Given the description of an element on the screen output the (x, y) to click on. 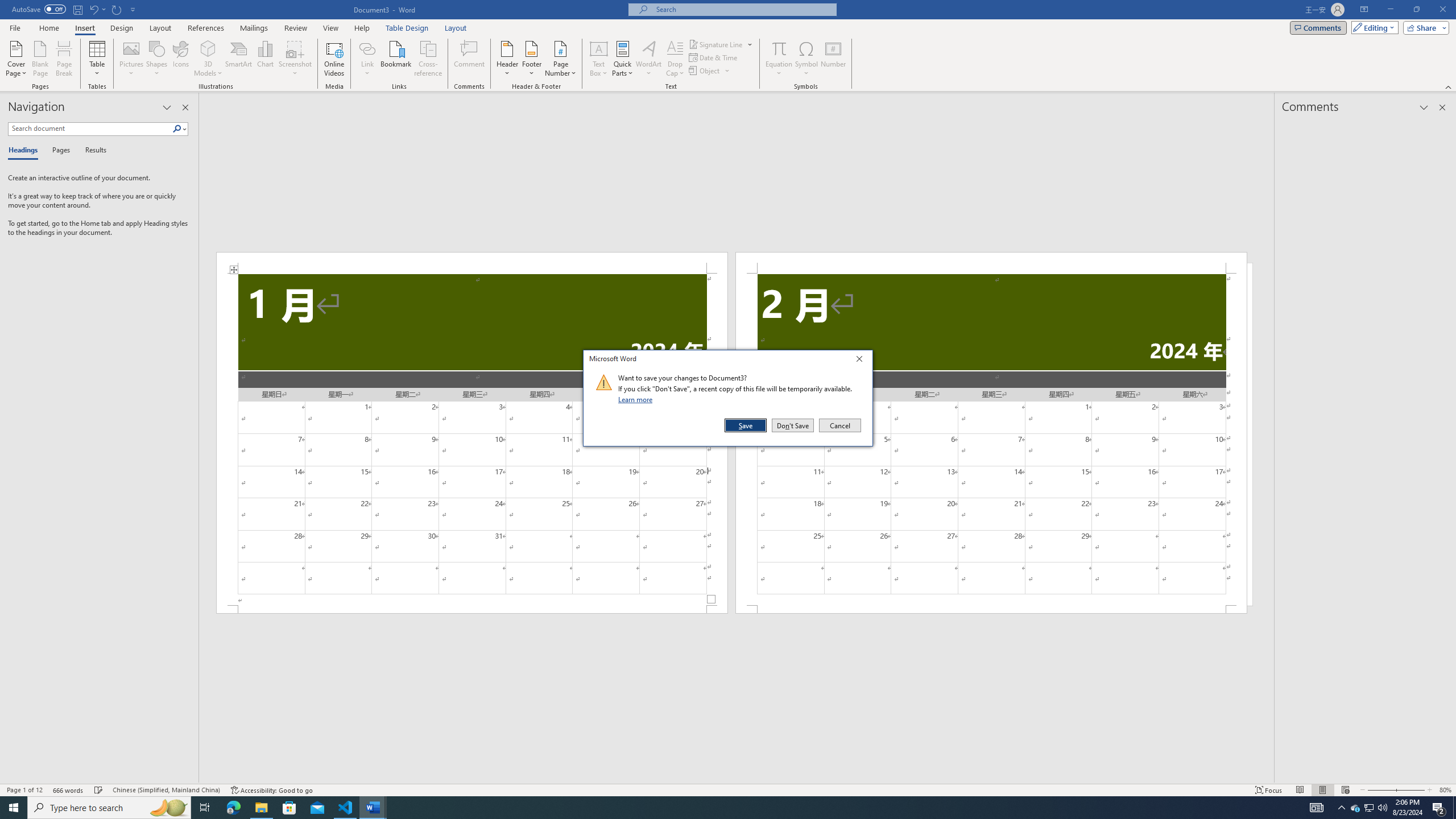
Class: NetUIScrollBar (736, 778)
Share (1423, 27)
Object... (705, 69)
Help (361, 28)
Headings (25, 150)
Table (97, 58)
Ribbon Display Options (1364, 9)
Type here to search (108, 807)
Read Mode (1299, 790)
Home (48, 28)
Cancel (839, 425)
Page Break (63, 58)
Comment (469, 58)
